Given the description of an element on the screen output the (x, y) to click on. 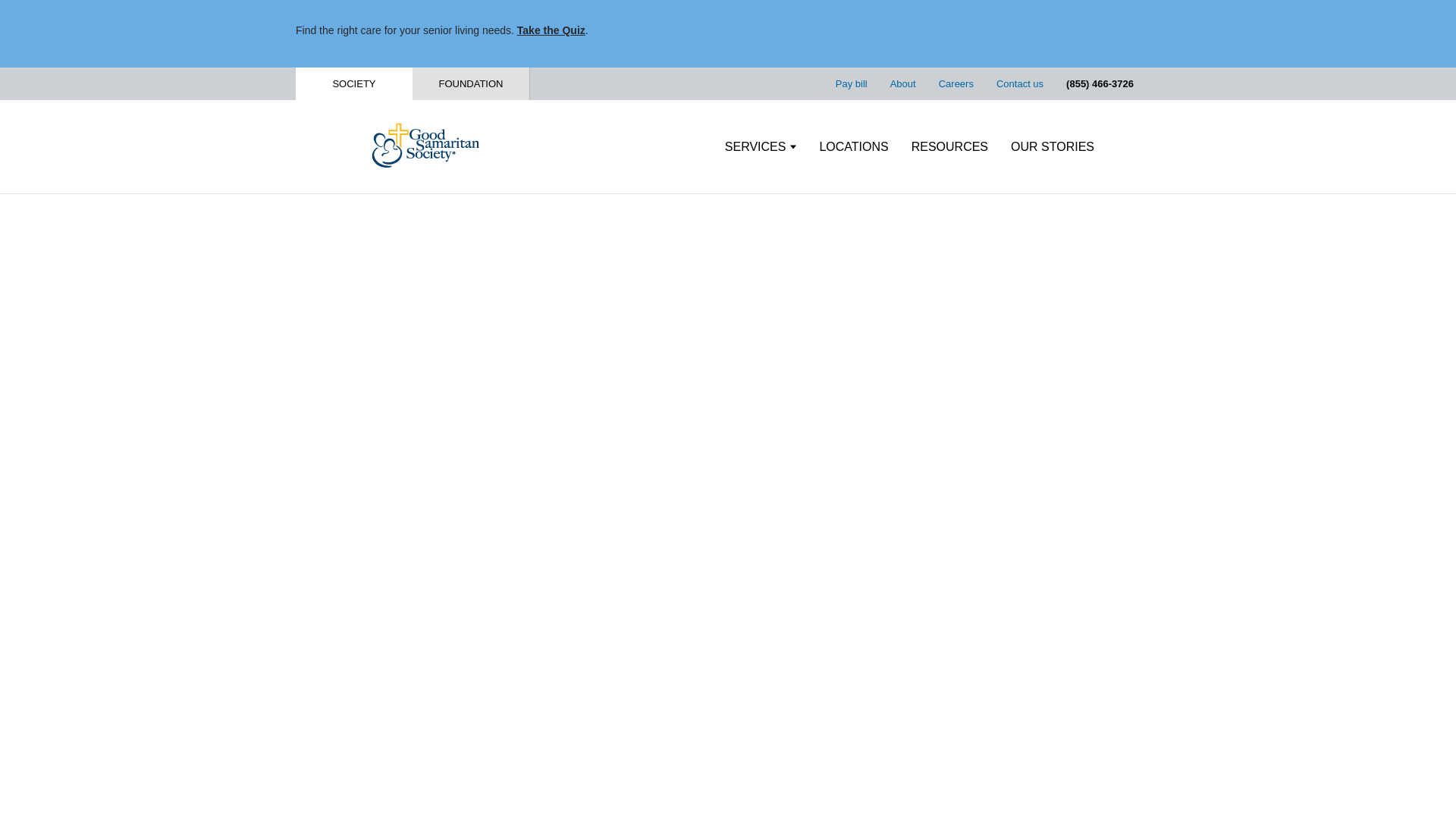
OUR STORIES (1052, 146)
SERVICES (760, 146)
Careers (956, 83)
LOCATIONS (853, 146)
About (902, 83)
RESOURCES (949, 146)
FOUNDATION (470, 83)
Take the Quiz (550, 30)
Contact us (1019, 83)
SOCIETY (353, 83)
Pay bill (851, 83)
